Given the description of an element on the screen output the (x, y) to click on. 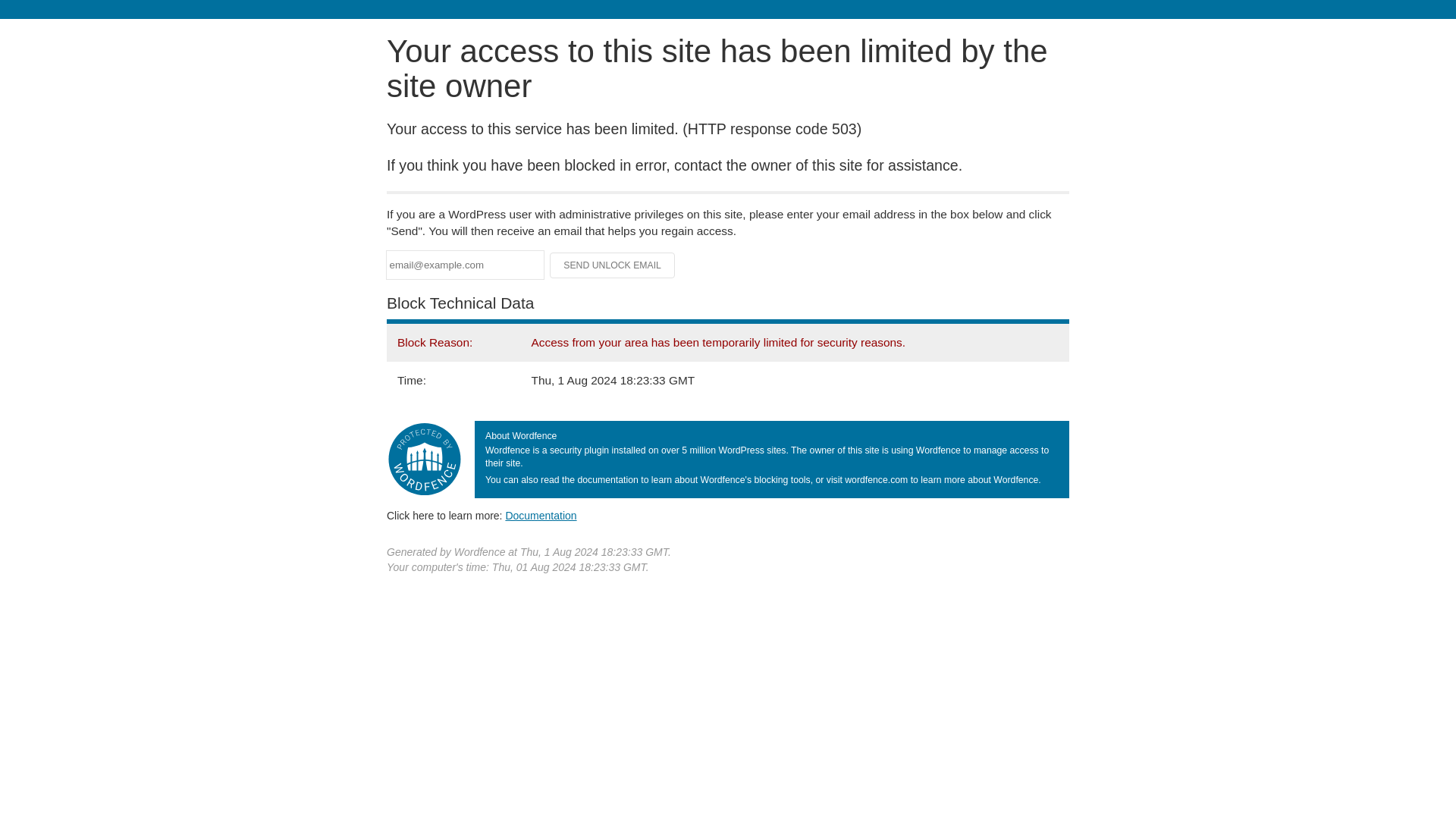
Documentation (540, 515)
Send Unlock Email (612, 265)
Send Unlock Email (612, 265)
